Given the description of an element on the screen output the (x, y) to click on. 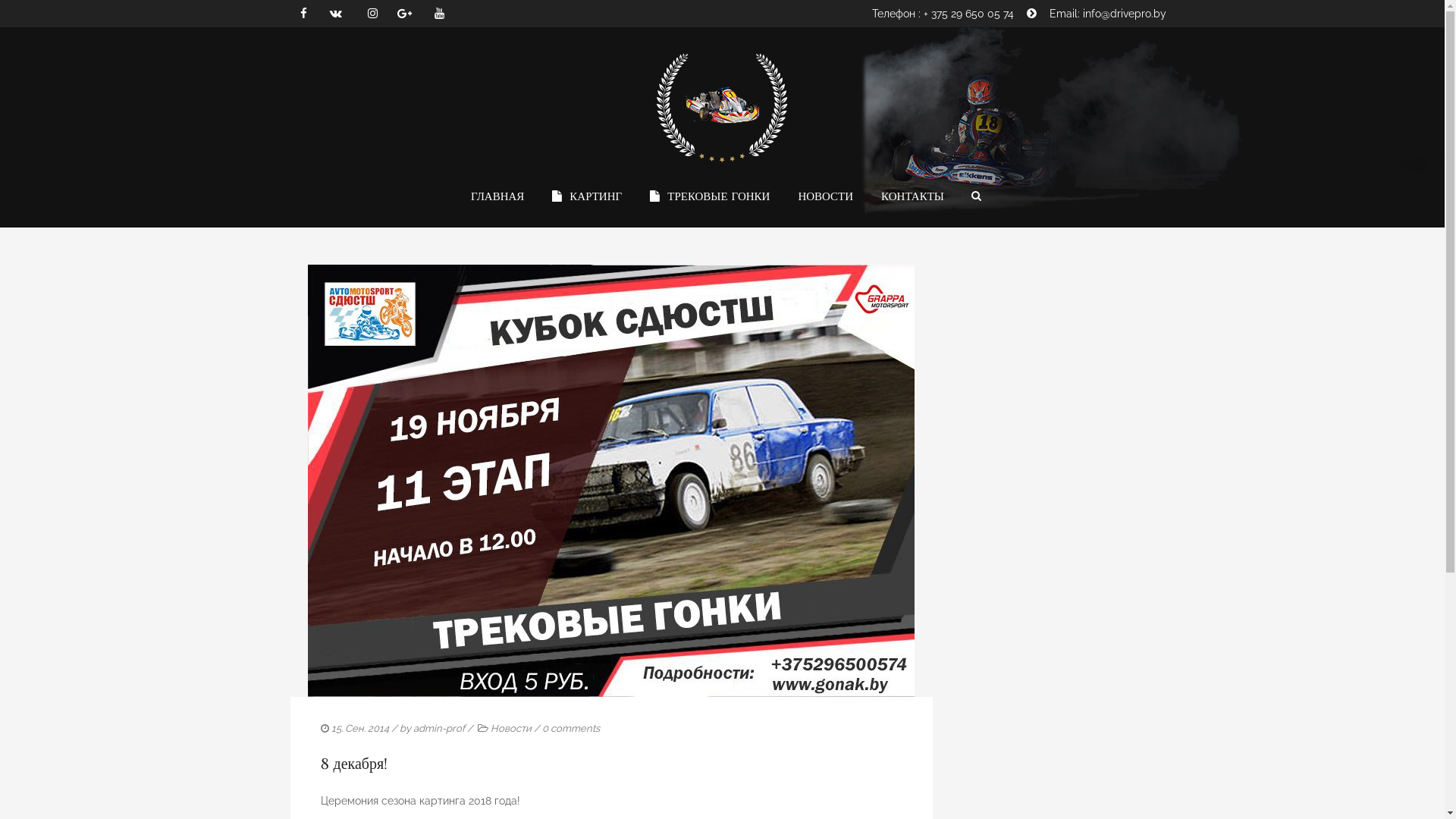
admin-prof Element type: text (438, 730)
